Given the description of an element on the screen output the (x, y) to click on. 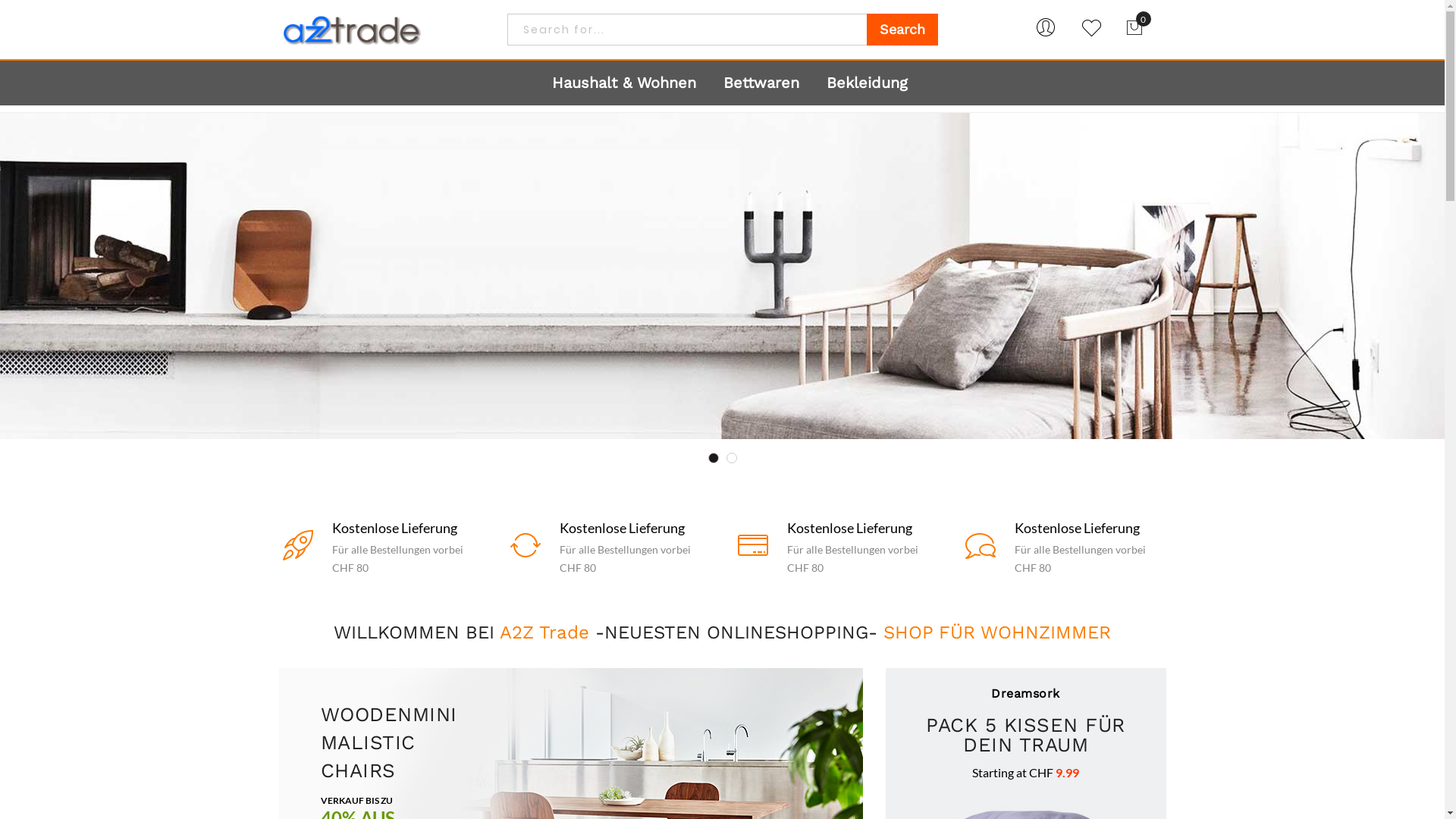
Haushalt & Wohnen Element type: text (623, 82)
1 Element type: text (713, 457)
Search Element type: text (901, 29)
My Cart
0 Element type: text (1134, 27)
Bekleidung Element type: text (866, 82)
2 Element type: text (731, 457)
Bettwaren Element type: text (760, 82)
